Given the description of an element on the screen output the (x, y) to click on. 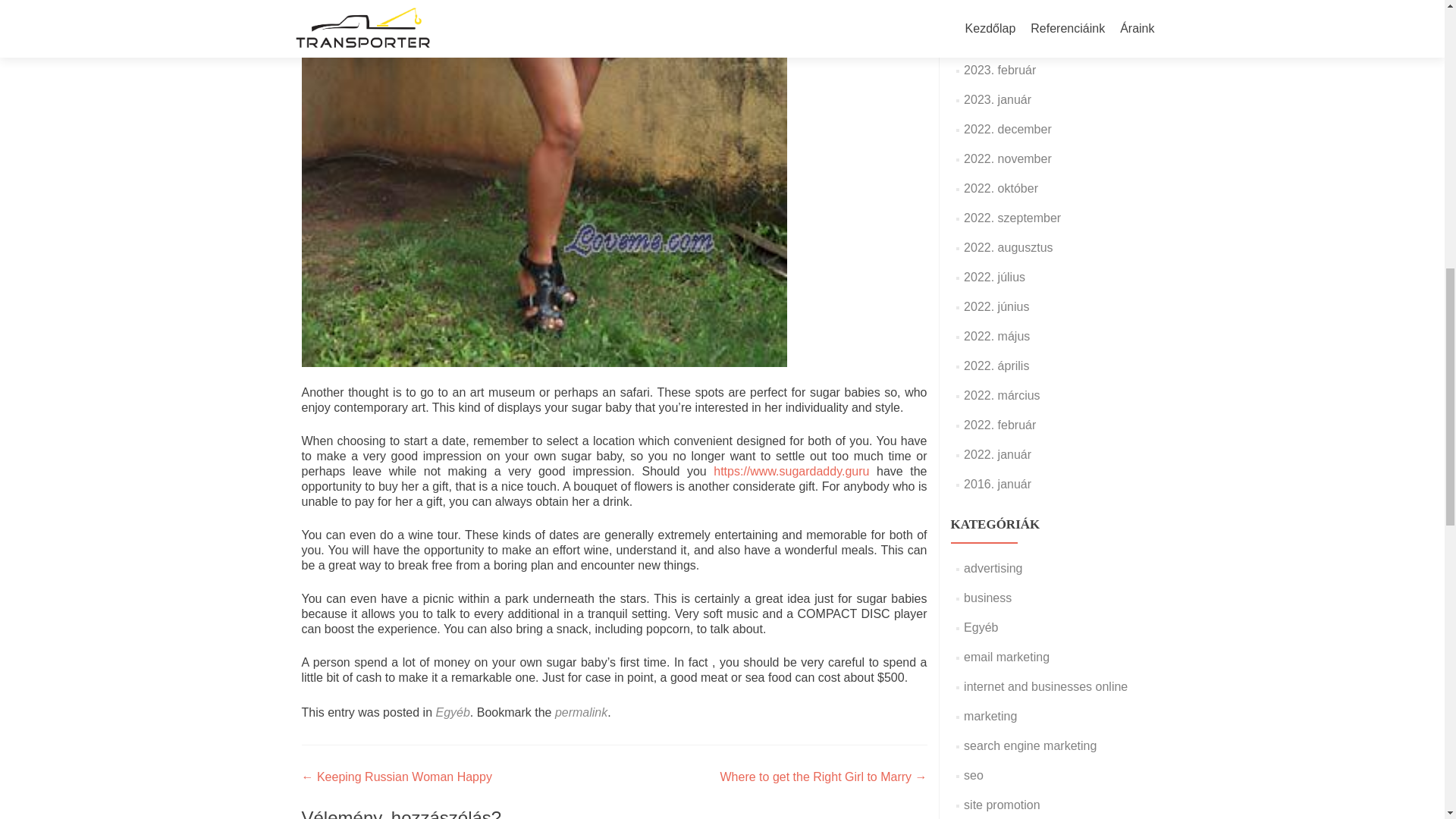
2022. szeptember (1012, 217)
2022. augusztus (1007, 246)
2022. december (1007, 128)
2022. november (1007, 158)
permalink (580, 712)
